Given the description of an element on the screen output the (x, y) to click on. 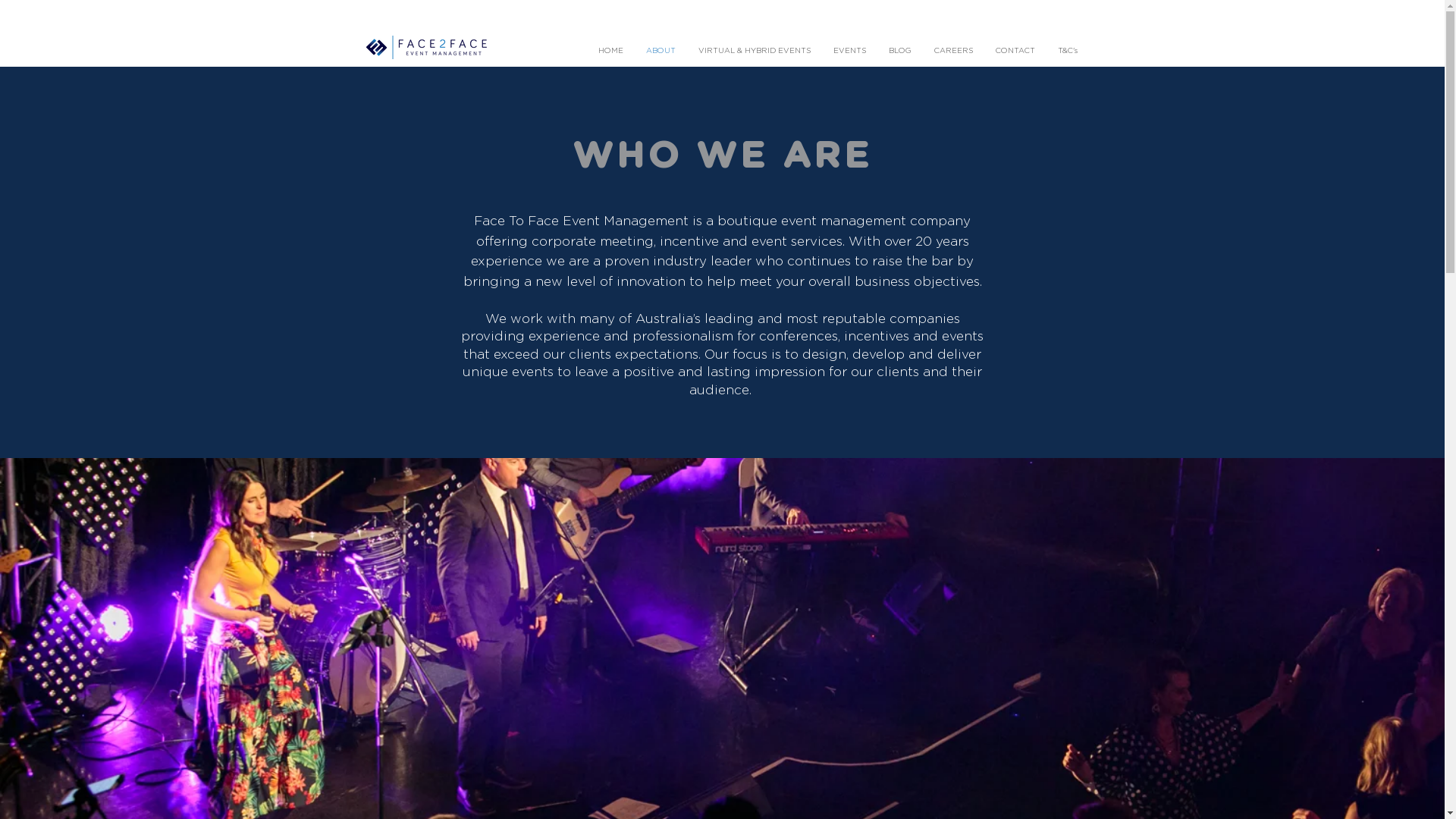
BLOG Element type: text (899, 50)
ABOUT Element type: text (659, 50)
T&C's Element type: text (1067, 50)
VIRTUAL & HYBRID EVENTS Element type: text (754, 50)
EVENTS Element type: text (849, 50)
HOME Element type: text (610, 50)
CONTACT Element type: text (1015, 50)
CAREERS Element type: text (952, 50)
